Given the description of an element on the screen output the (x, y) to click on. 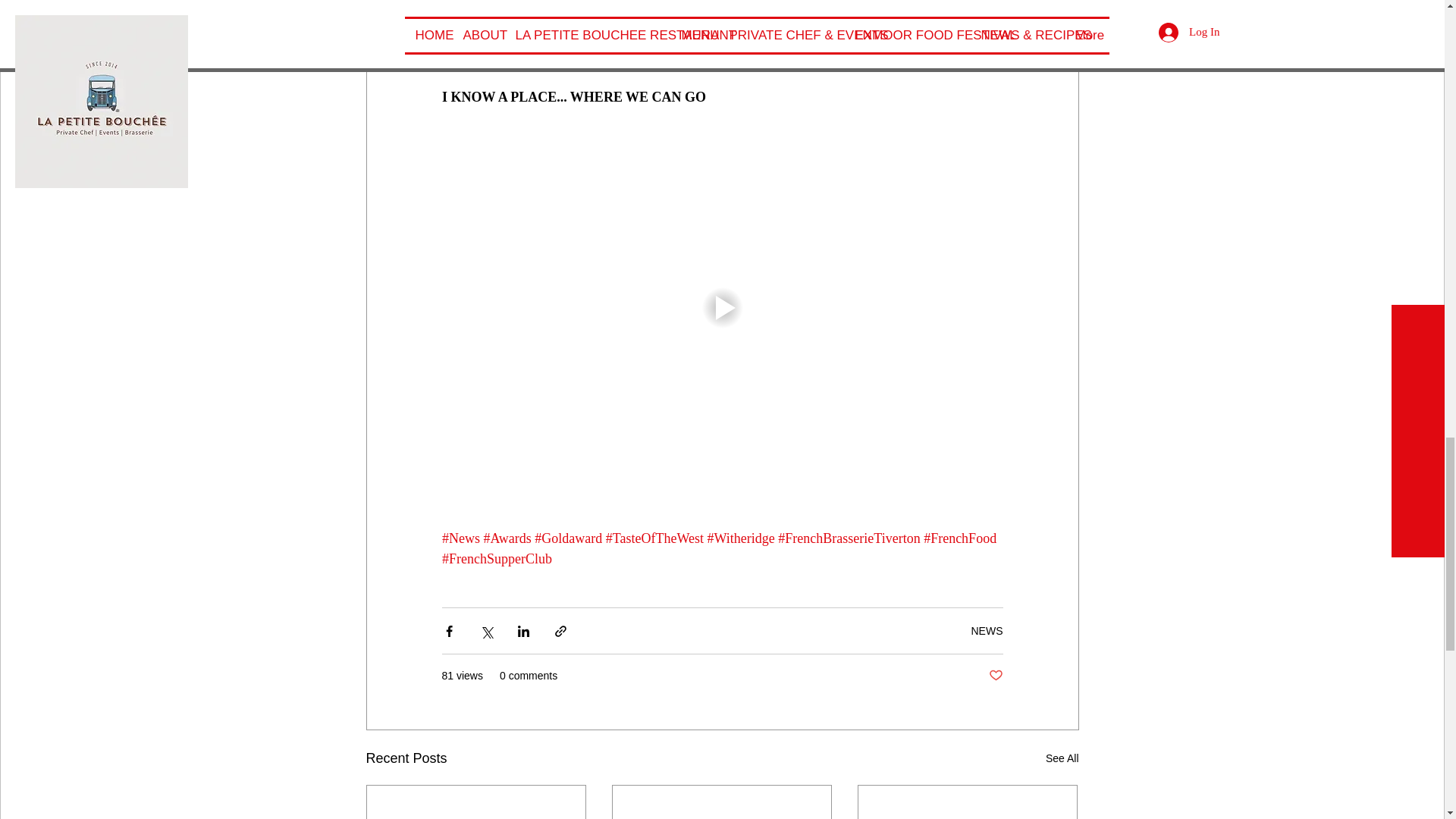
HERE (497, 14)
NEWS (987, 630)
See All (1061, 758)
Post not marked as liked (995, 675)
